Given the description of an element on the screen output the (x, y) to click on. 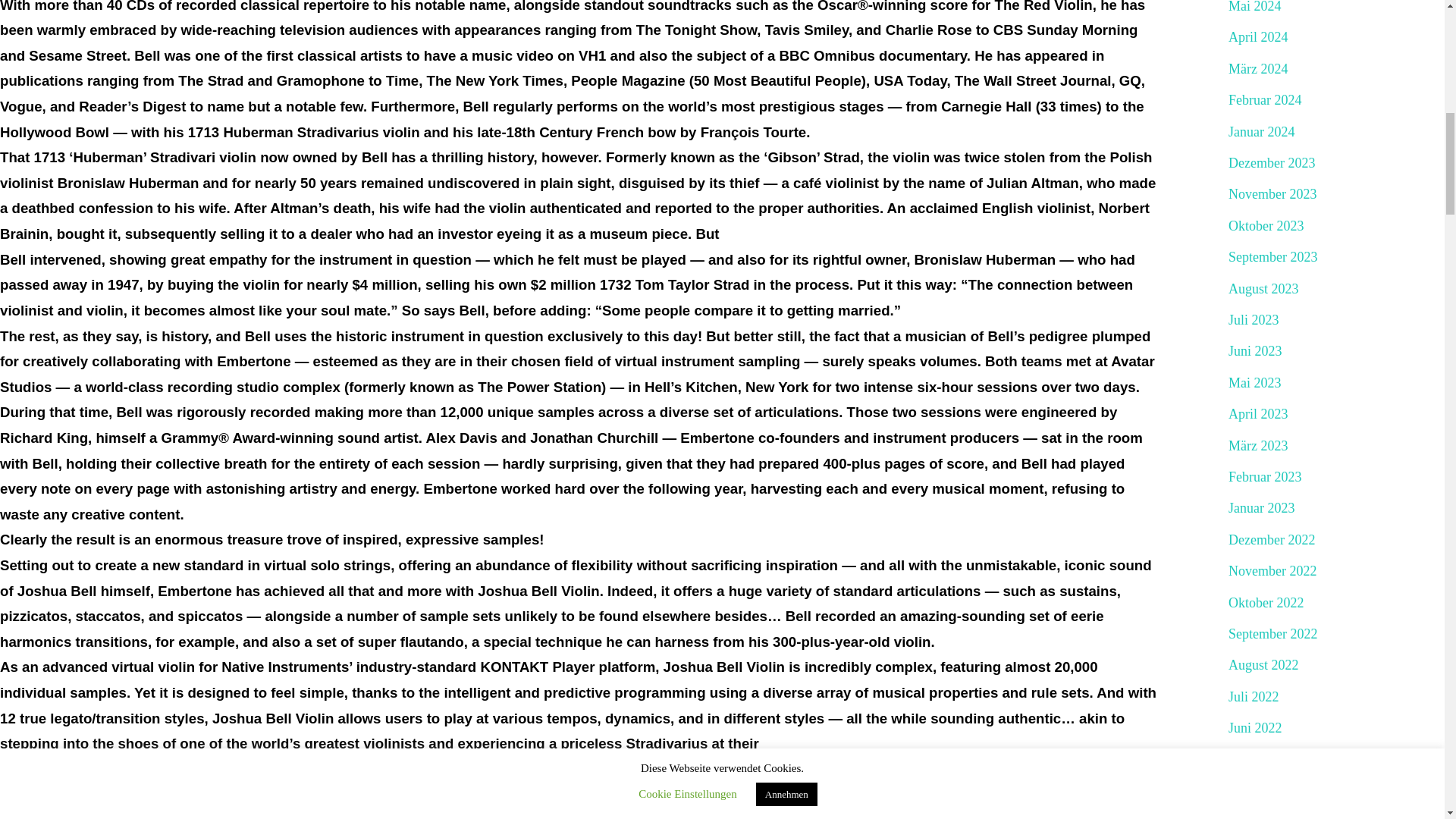
Februar 2024 (1264, 100)
April 2024 (1258, 37)
Mai 2024 (1254, 7)
